Given the description of an element on the screen output the (x, y) to click on. 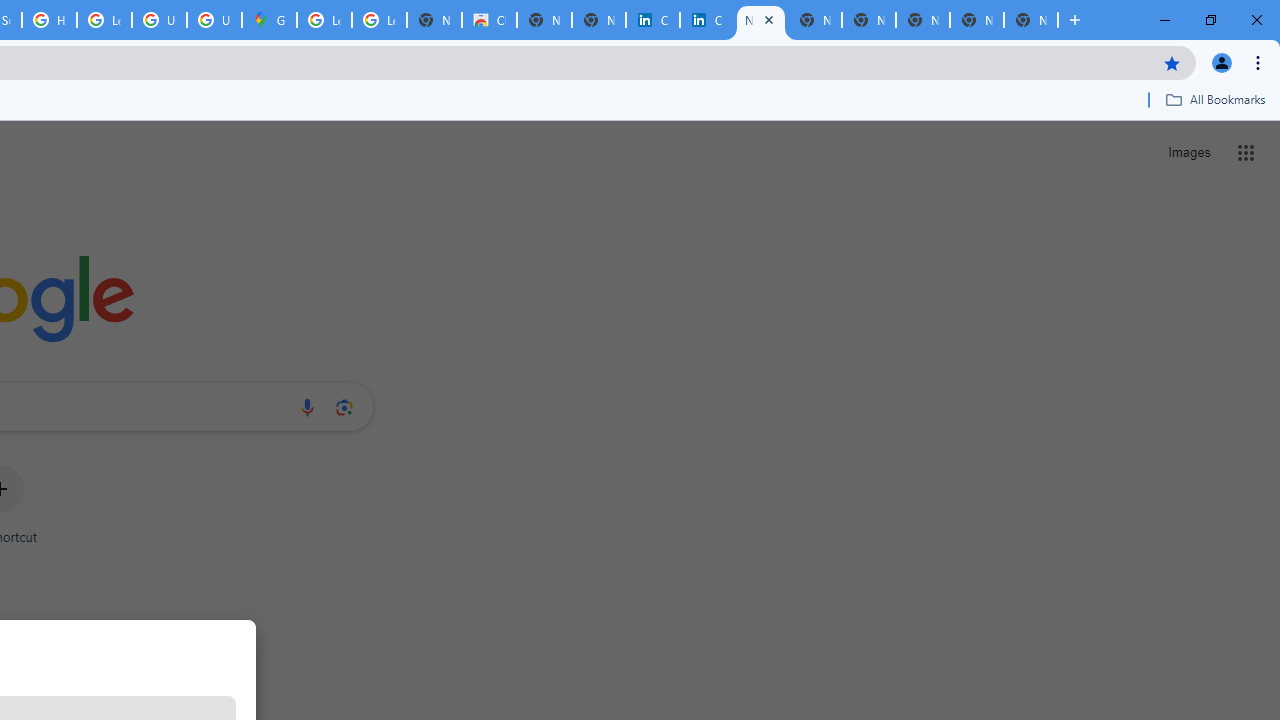
Minimize (1165, 20)
Restore (1210, 20)
Cookie Policy | LinkedIn (706, 20)
How Chrome protects your passwords - Google Chrome Help (48, 20)
New Tab (1075, 20)
Chrome (1260, 62)
All Bookmarks (1215, 99)
Bookmark this tab (1171, 62)
Chrome Web Store (489, 20)
